Given the description of an element on the screen output the (x, y) to click on. 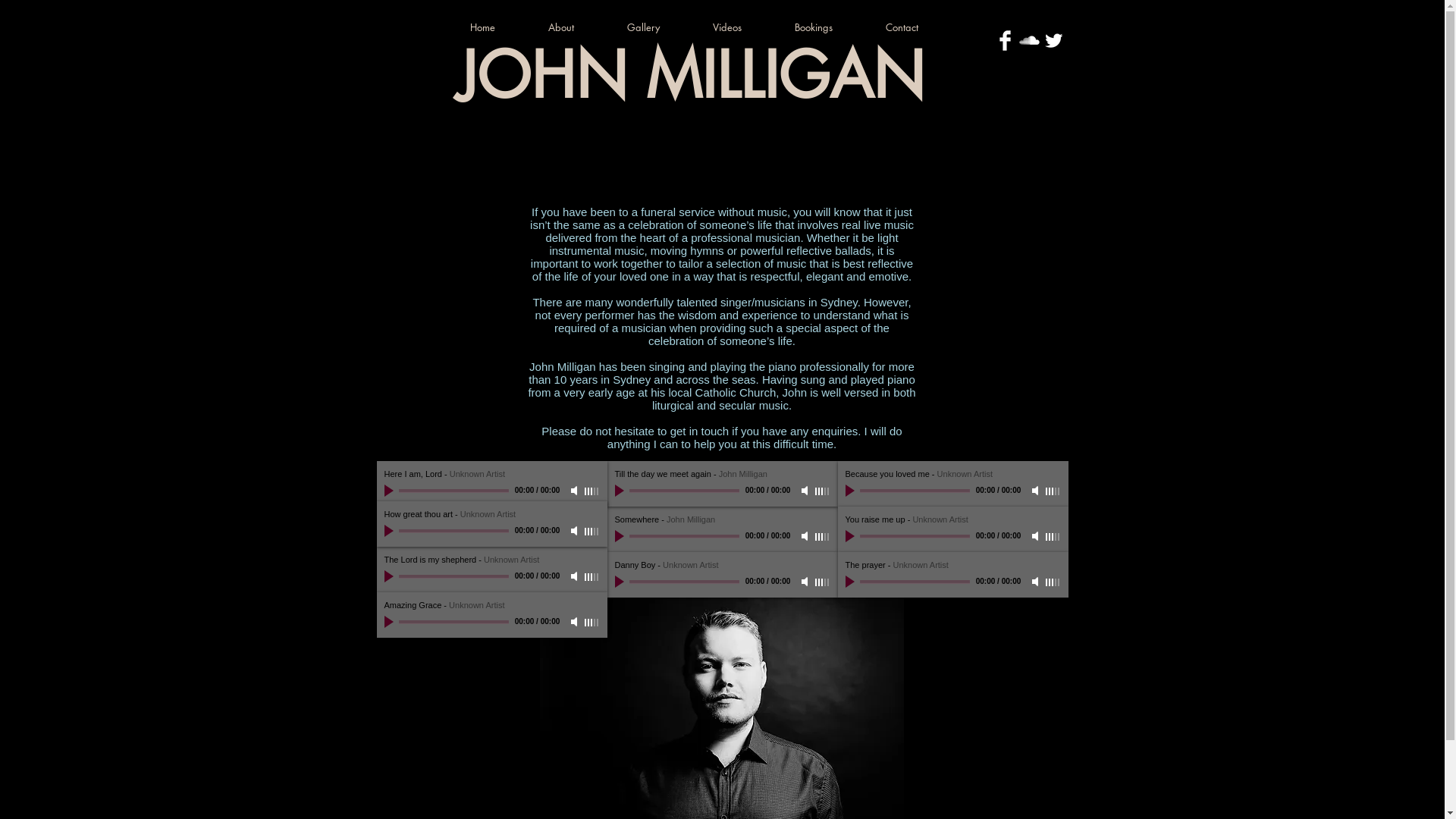
About Element type: text (574, 26)
Home Element type: text (495, 26)
Videos Element type: text (740, 26)
Bookings Element type: text (826, 26)
Contact Element type: text (914, 26)
Gallery Element type: text (656, 26)
